Given the description of an element on the screen output the (x, y) to click on. 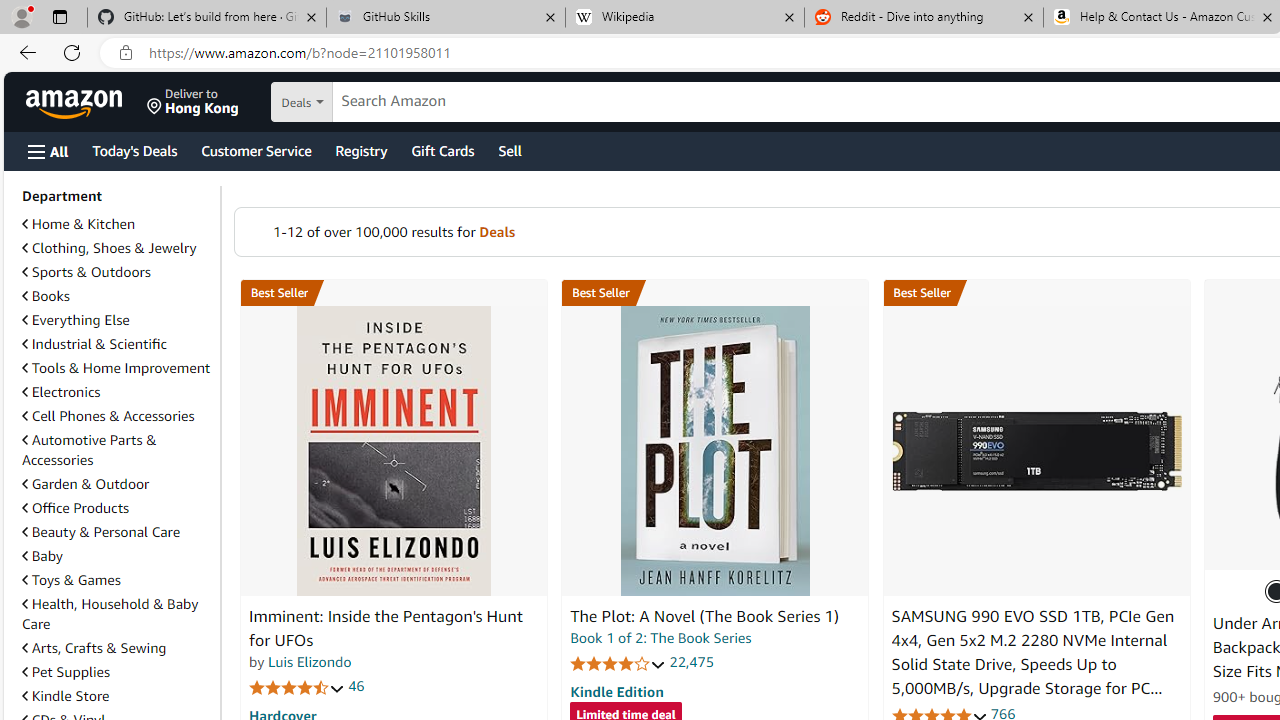
Arts, Crafts & Sewing (93, 647)
Gift Cards (442, 150)
Everything Else (75, 320)
Automotive Parts & Accessories (89, 449)
Books (45, 296)
Kindle Store (65, 695)
Sports & Outdoors (117, 272)
Best Seller in Internal Solid State Drives (1036, 293)
Electronics (61, 392)
Automotive Parts & Accessories (117, 449)
Tools & Home Improvement (117, 367)
Open Menu (48, 151)
